Given the description of an element on the screen output the (x, y) to click on. 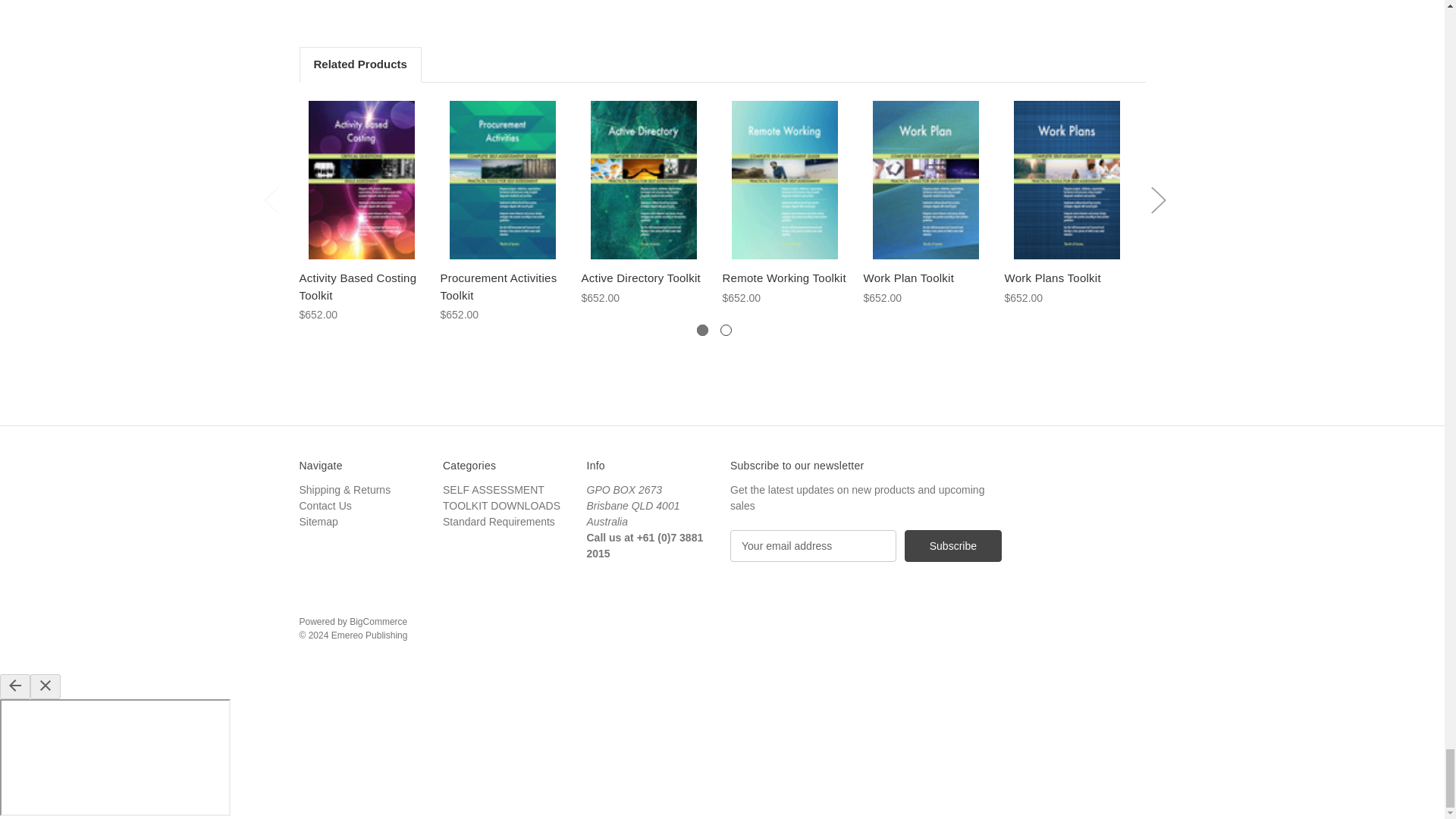
Subscribe (952, 545)
Activity Based Costing Toolkit (360, 286)
Toolkit Overview (732, 21)
Related Products (359, 64)
